Given the description of an element on the screen output the (x, y) to click on. 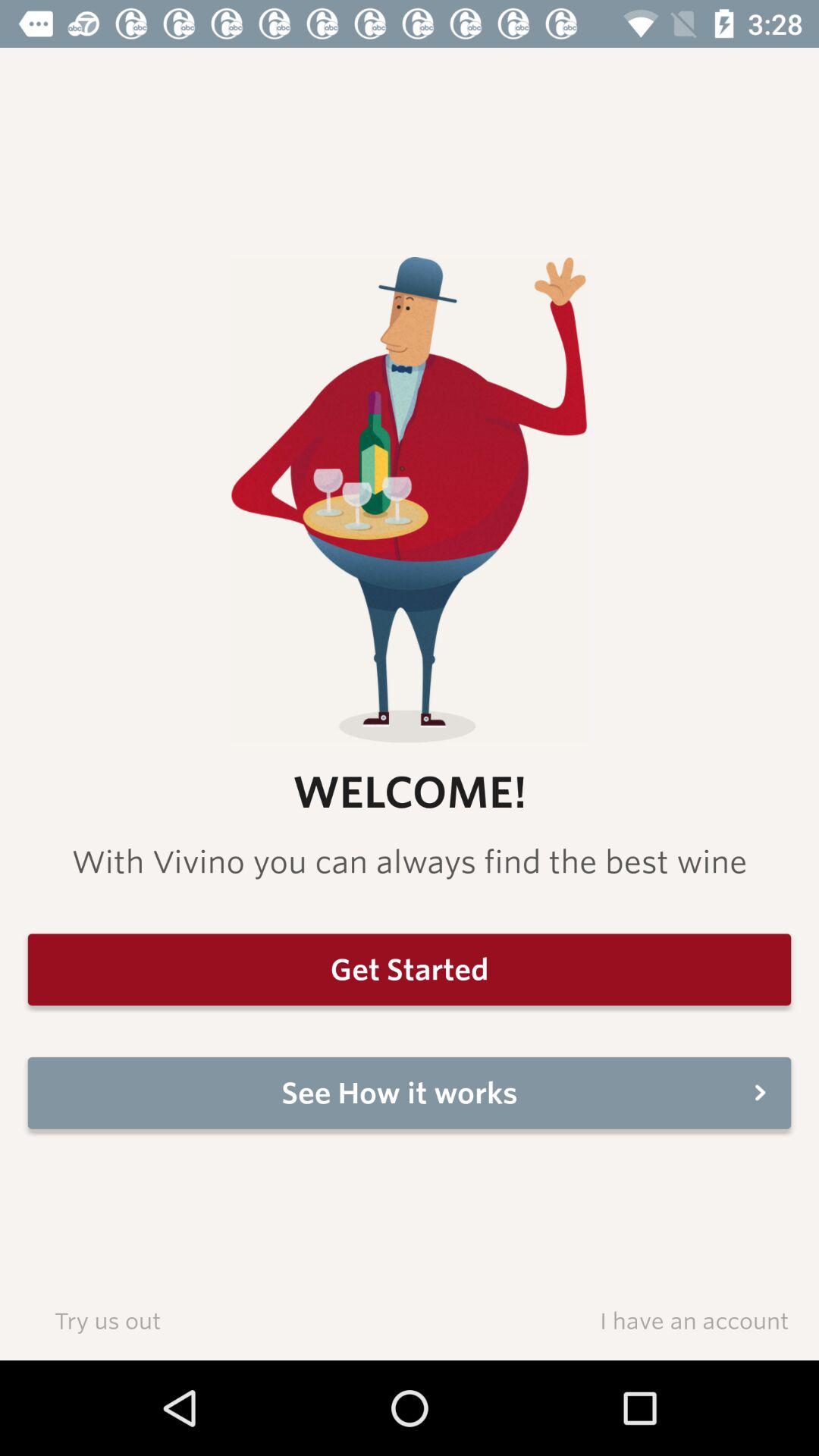
press the get started item (409, 969)
